Given the description of an element on the screen output the (x, y) to click on. 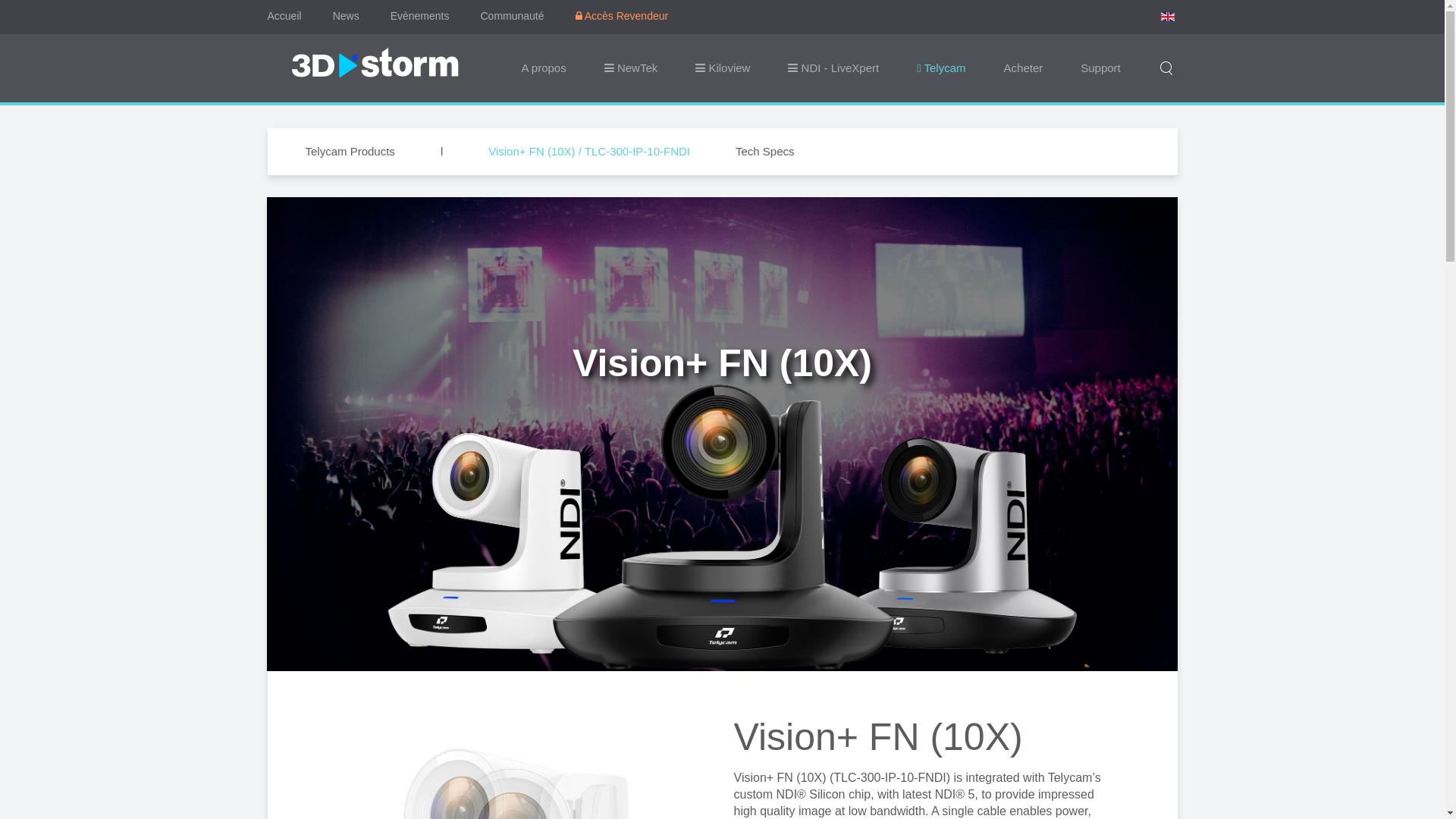
Acheter Element type: text (1023, 68)
News Element type: text (345, 15)
Vision+ FN (10X) / TLC-300-IP-10-FNDI Element type: text (588, 151)
Accueil Element type: text (283, 15)
English (UK) Element type: hover (1166, 16)
NewTek Element type: text (631, 68)
Telycam Products Element type: text (349, 151)
l Element type: text (441, 151)
Kiloview Element type: text (722, 68)
Support Element type: text (1100, 68)
A propos Element type: text (543, 68)
Tech Specs Element type: text (764, 151)
NDI - LiveXpert Element type: text (832, 68)
